Given the description of an element on the screen output the (x, y) to click on. 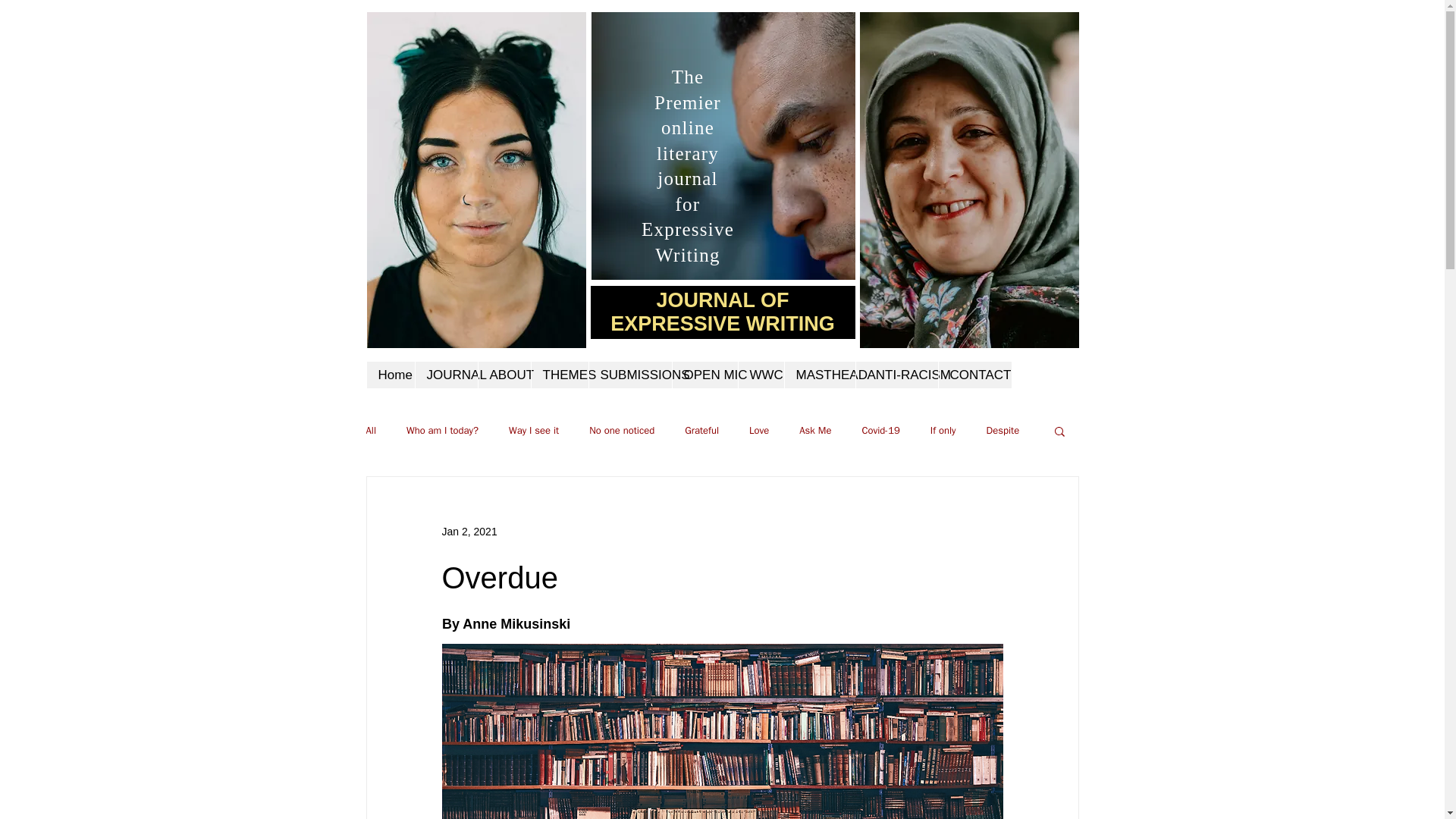
WWC (759, 374)
Way I see it (533, 430)
No one noticed (621, 430)
All (370, 430)
SUBMISSIONS (629, 374)
If only (943, 430)
Despite (1003, 430)
Ask Me (815, 430)
CONTACT (969, 374)
ANTI-RACISM (896, 374)
Jan 2, 2021 (468, 530)
ABOUT (504, 374)
Home (390, 374)
MASTHEAD (820, 374)
Grateful (701, 430)
